Given the description of an element on the screen output the (x, y) to click on. 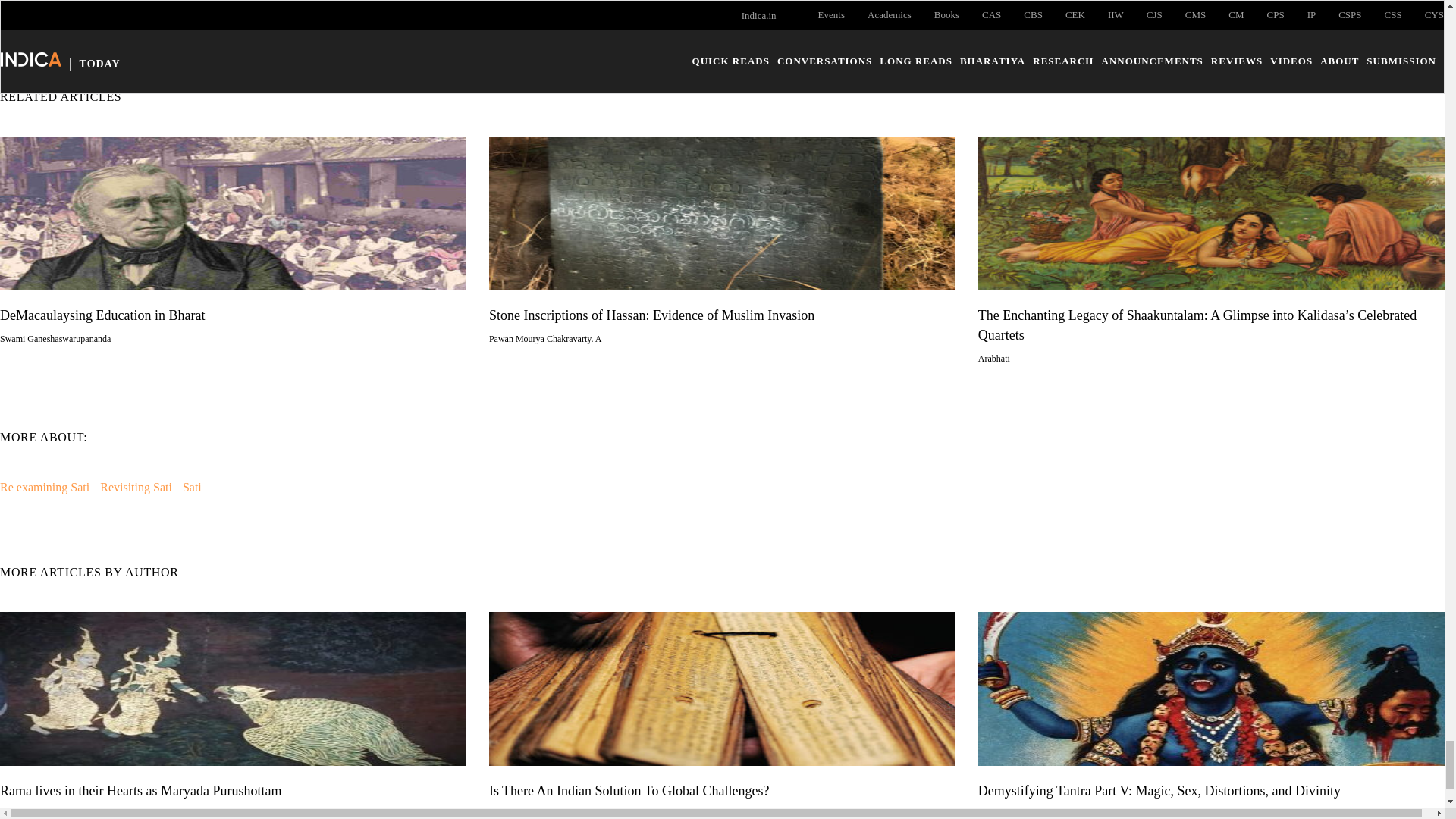
Revisiting Sati (135, 486)
Sati (192, 486)
Re examining Sati (44, 486)
